Given the description of an element on the screen output the (x, y) to click on. 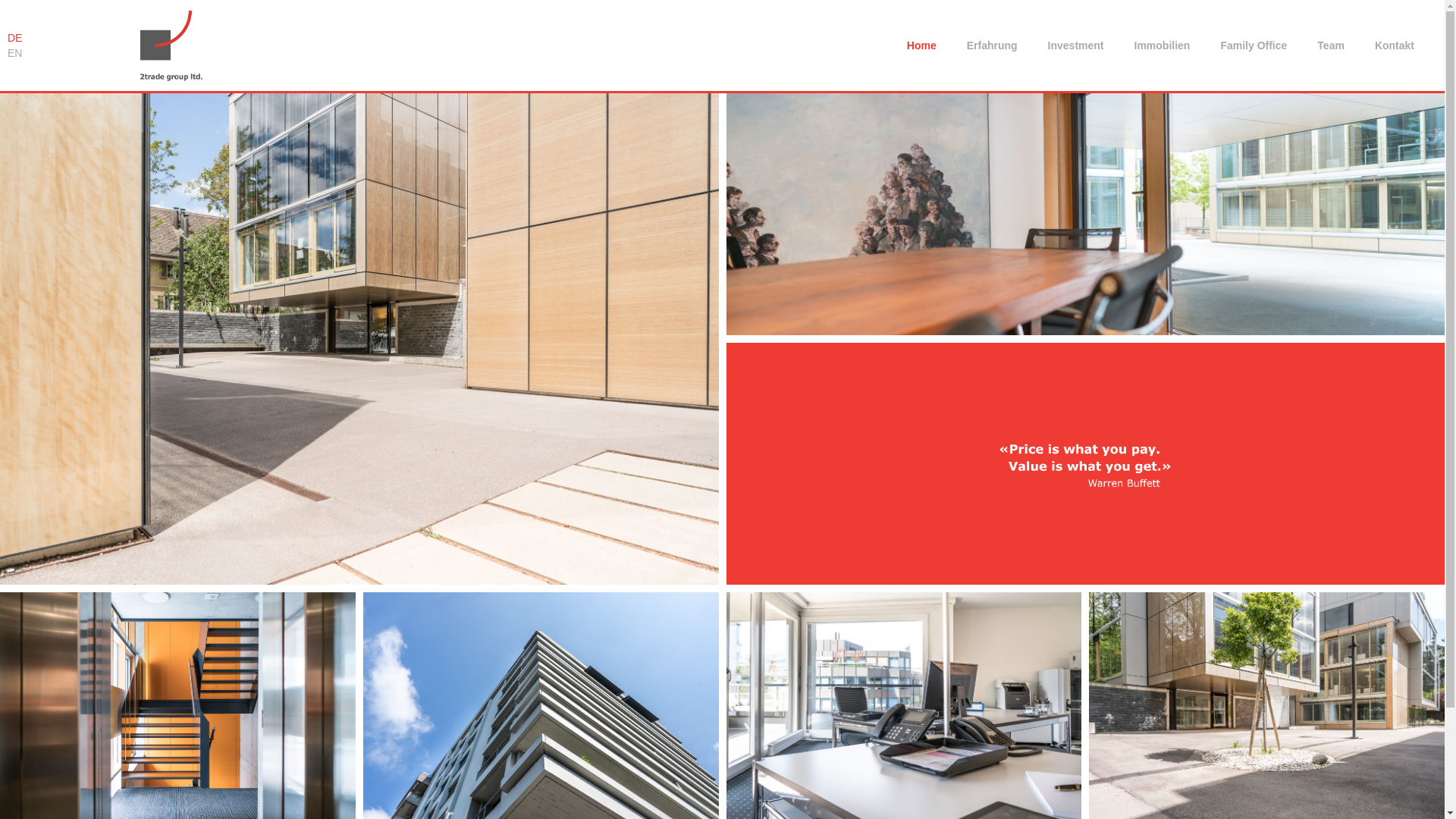
Immobilien Element type: text (1162, 45)
Investment Element type: text (1075, 45)
Team Element type: text (1330, 45)
Home Element type: text (921, 45)
Kontakt Element type: text (1394, 45)
DE Element type: text (14, 37)
Erfahrung Element type: text (991, 45)
EN Element type: text (14, 52)
Family Office Element type: text (1253, 45)
